Given the description of an element on the screen output the (x, y) to click on. 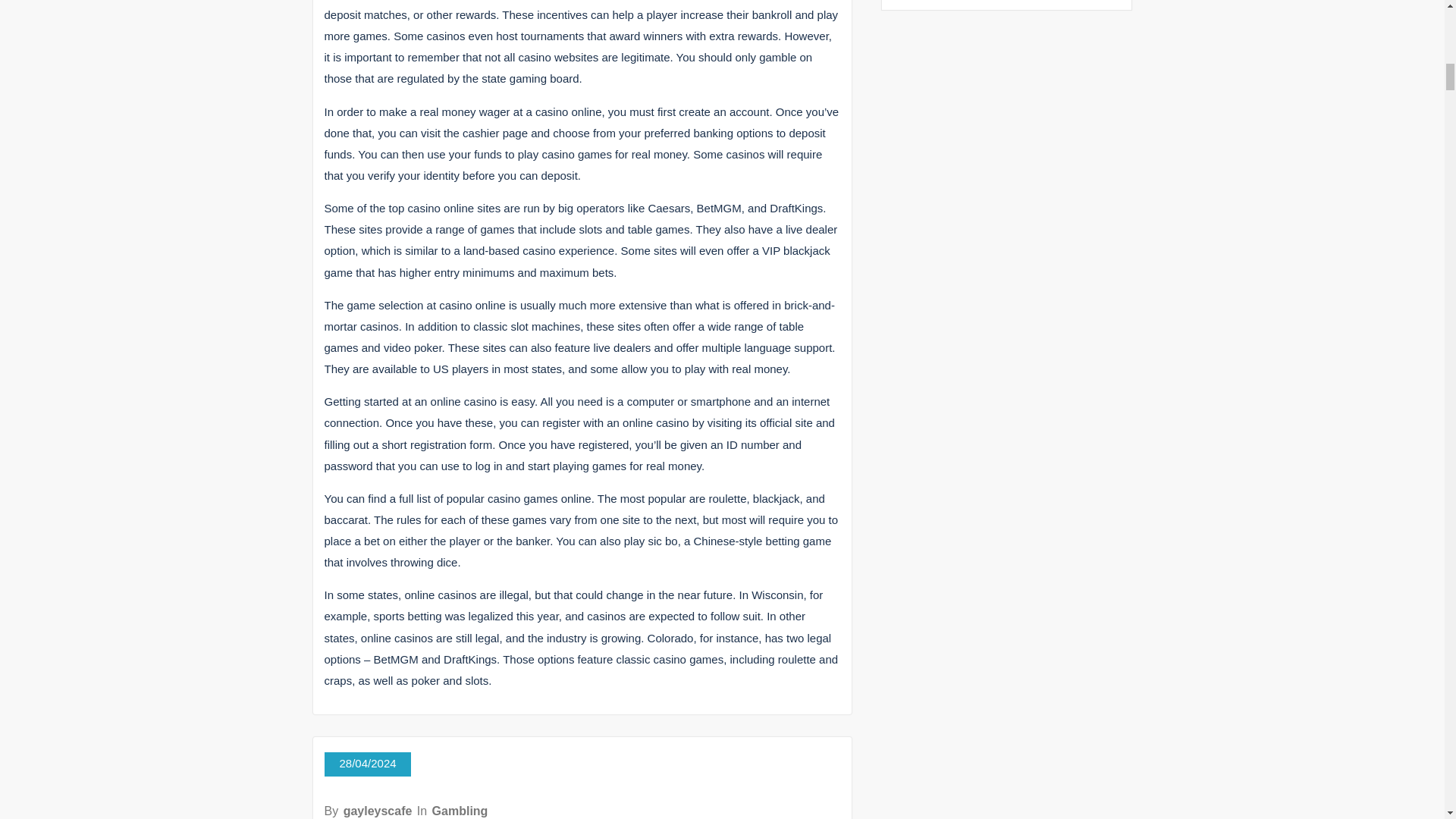
gayleyscafe (377, 810)
Gambling (459, 810)
